Given the description of an element on the screen output the (x, y) to click on. 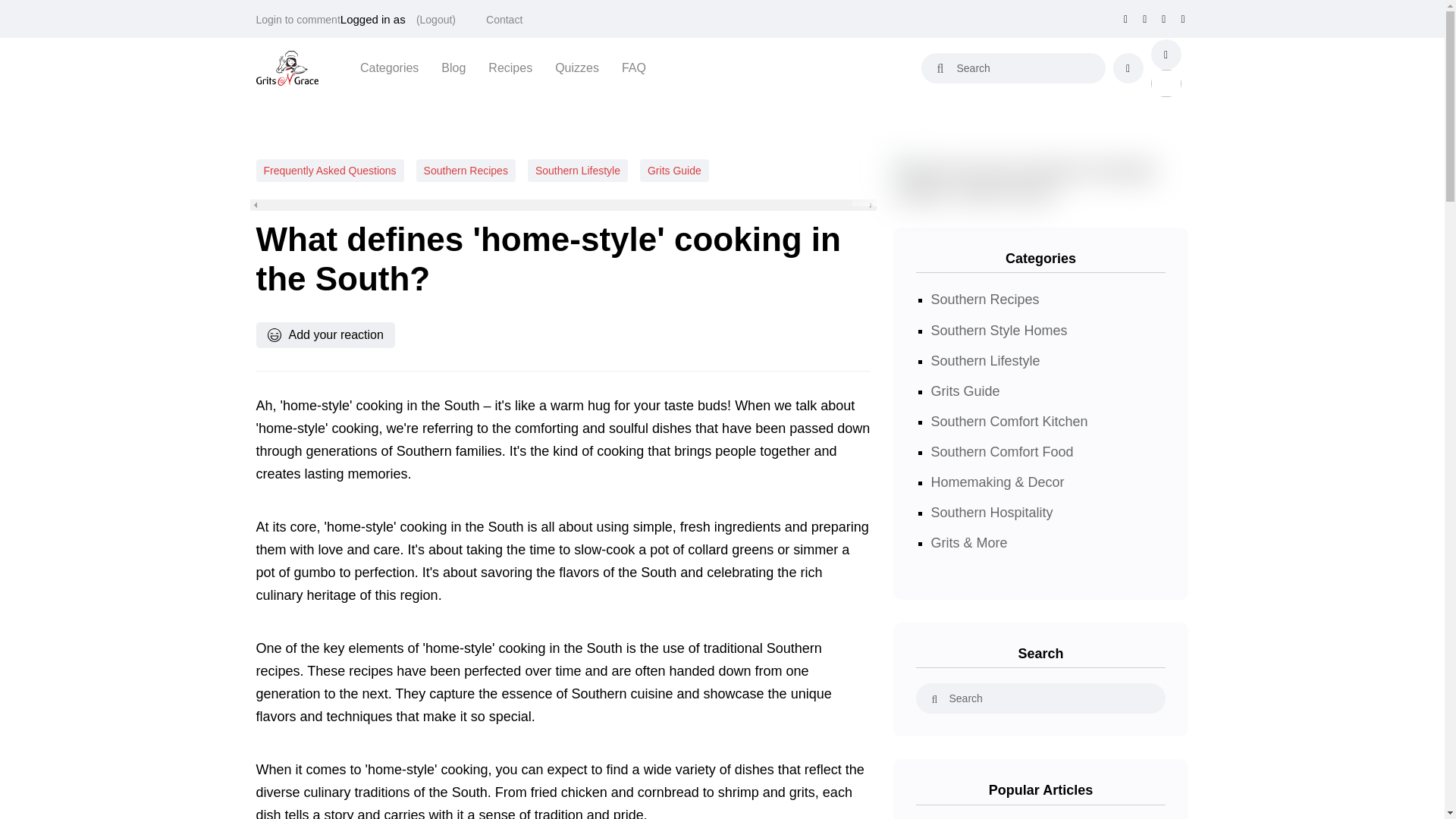
Login to comment (298, 19)
Categories (389, 67)
Contact (504, 19)
